Given the description of an element on the screen output the (x, y) to click on. 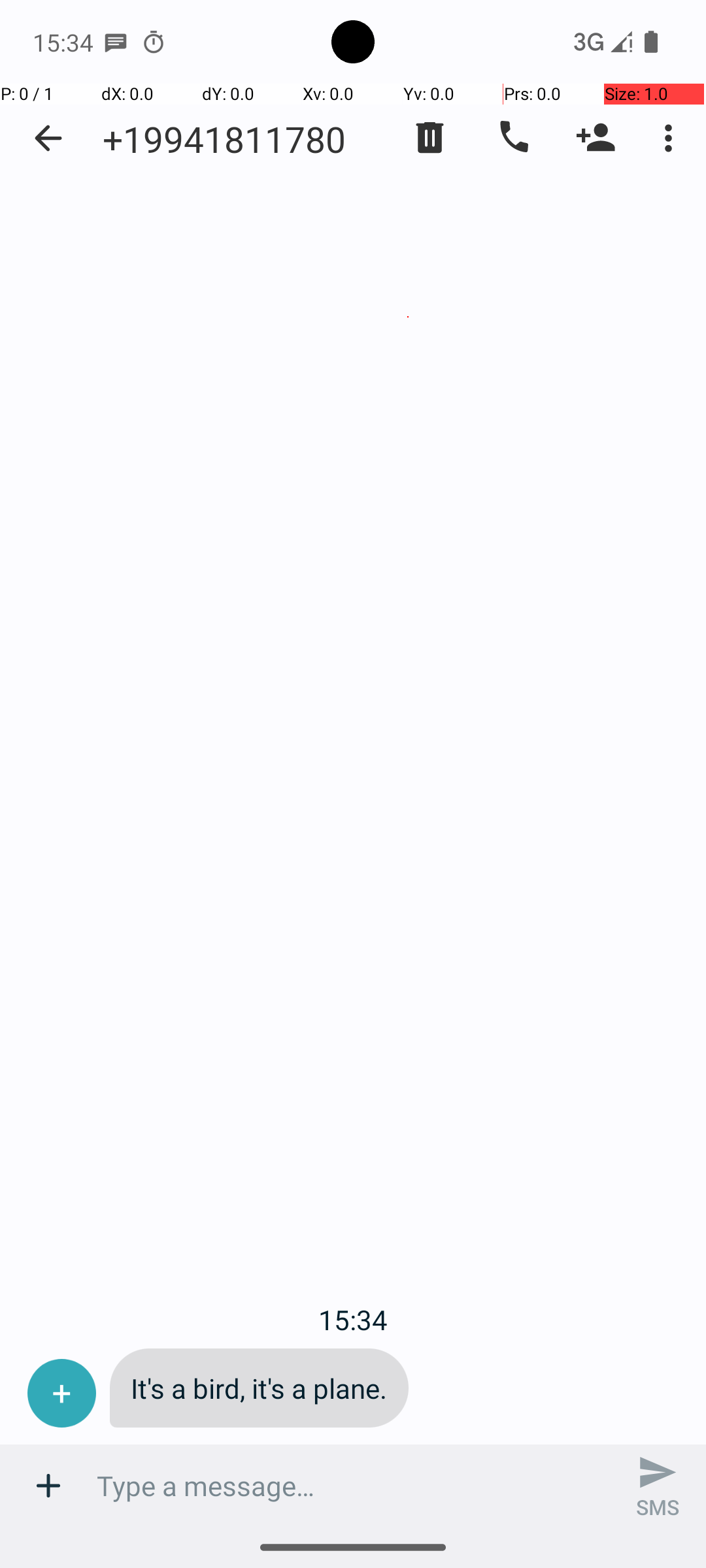
+19941811780 Element type: android.widget.TextView (223, 138)
